Given the description of an element on the screen output the (x, y) to click on. 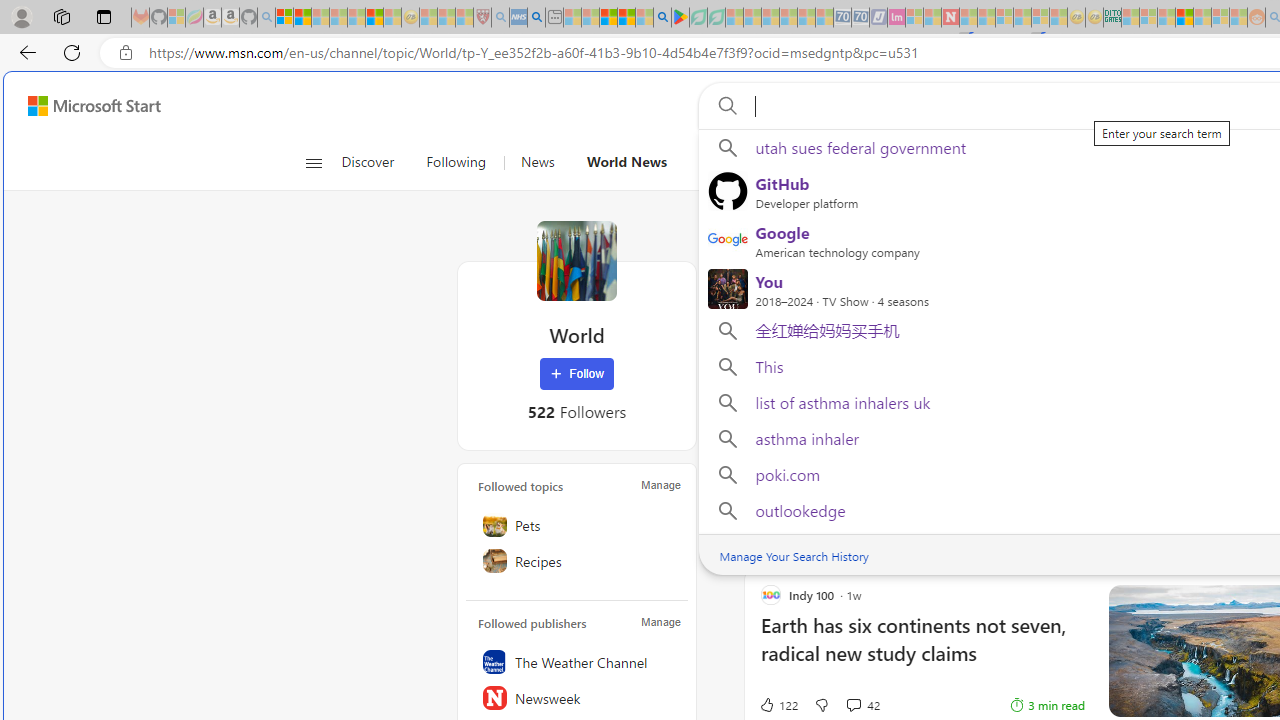
Bluey: Let's Play! - Apps on Google Play (680, 17)
utah sues federal government - Search (536, 17)
